Given the description of an element on the screen output the (x, y) to click on. 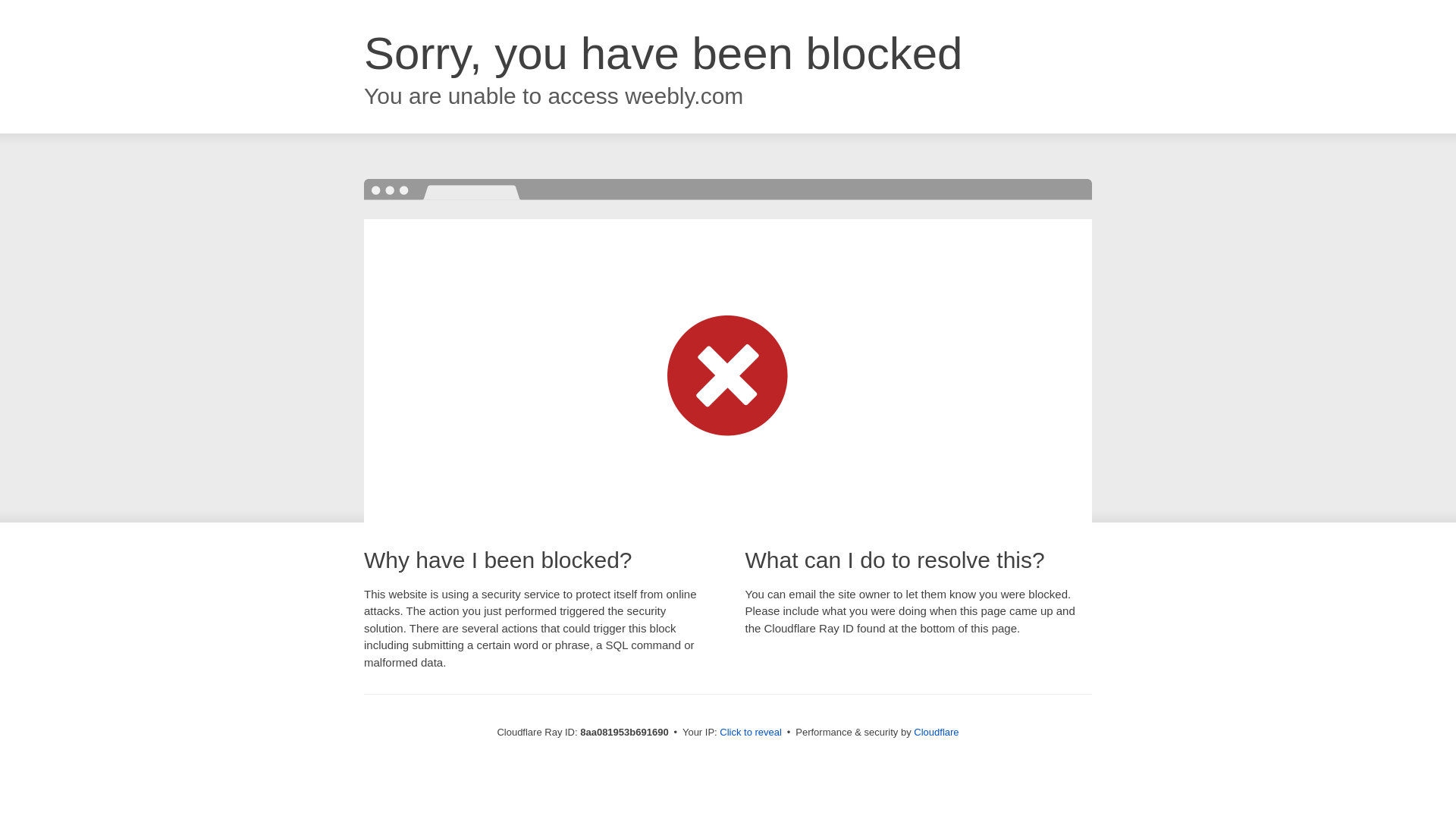
Cloudflare (936, 731)
Click to reveal (750, 732)
